Given the description of an element on the screen output the (x, y) to click on. 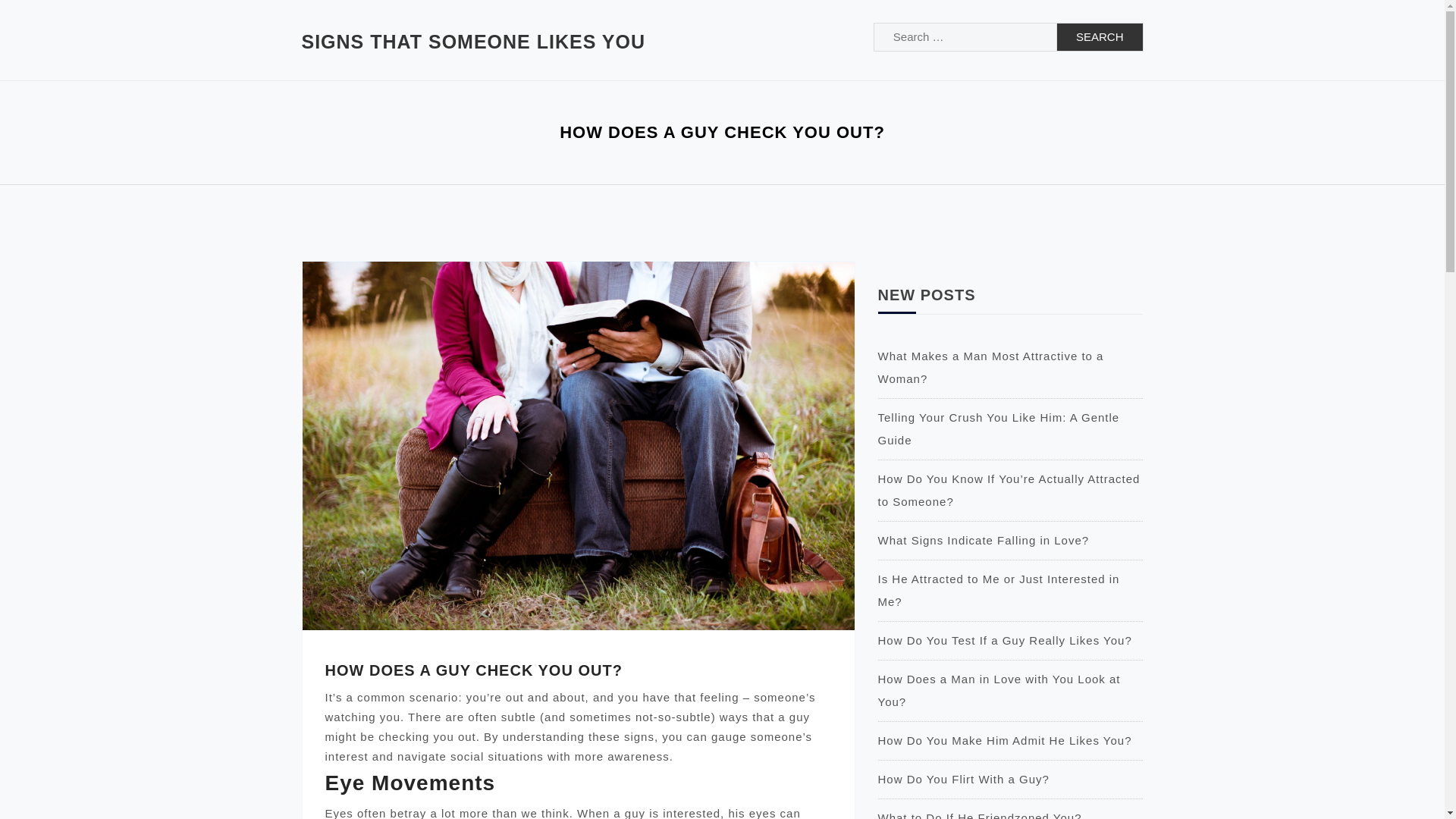
Telling Your Crush You Like Him: A Gentle Guide (998, 428)
What Makes a Man Most Attractive to a Woman? (990, 366)
Is He Attracted to Me or Just Interested in Me? (998, 590)
Permalink to What to Do If He Friendzoned You? (979, 815)
Permalink to How Do You Flirt With a Guy? (963, 779)
Permalink to How Do You Test If a Guy Really Likes You? (1004, 640)
Permalink to What Signs Indicate Falling in Love? (983, 540)
Permalink to Is He Attracted to Me or Just Interested in Me? (998, 590)
SIGNS THAT SOMEONE LIKES YOU (473, 41)
Permalink to Telling Your Crush You Like Him: A Gentle Guide (998, 428)
Permalink to What Makes a Man Most Attractive to a Woman? (990, 366)
How Do You Flirt With a Guy? (963, 779)
Search (1099, 36)
Permalink to How Do You Make Him Admit He Likes You? (1004, 739)
Search (1099, 36)
